Given the description of an element on the screen output the (x, y) to click on. 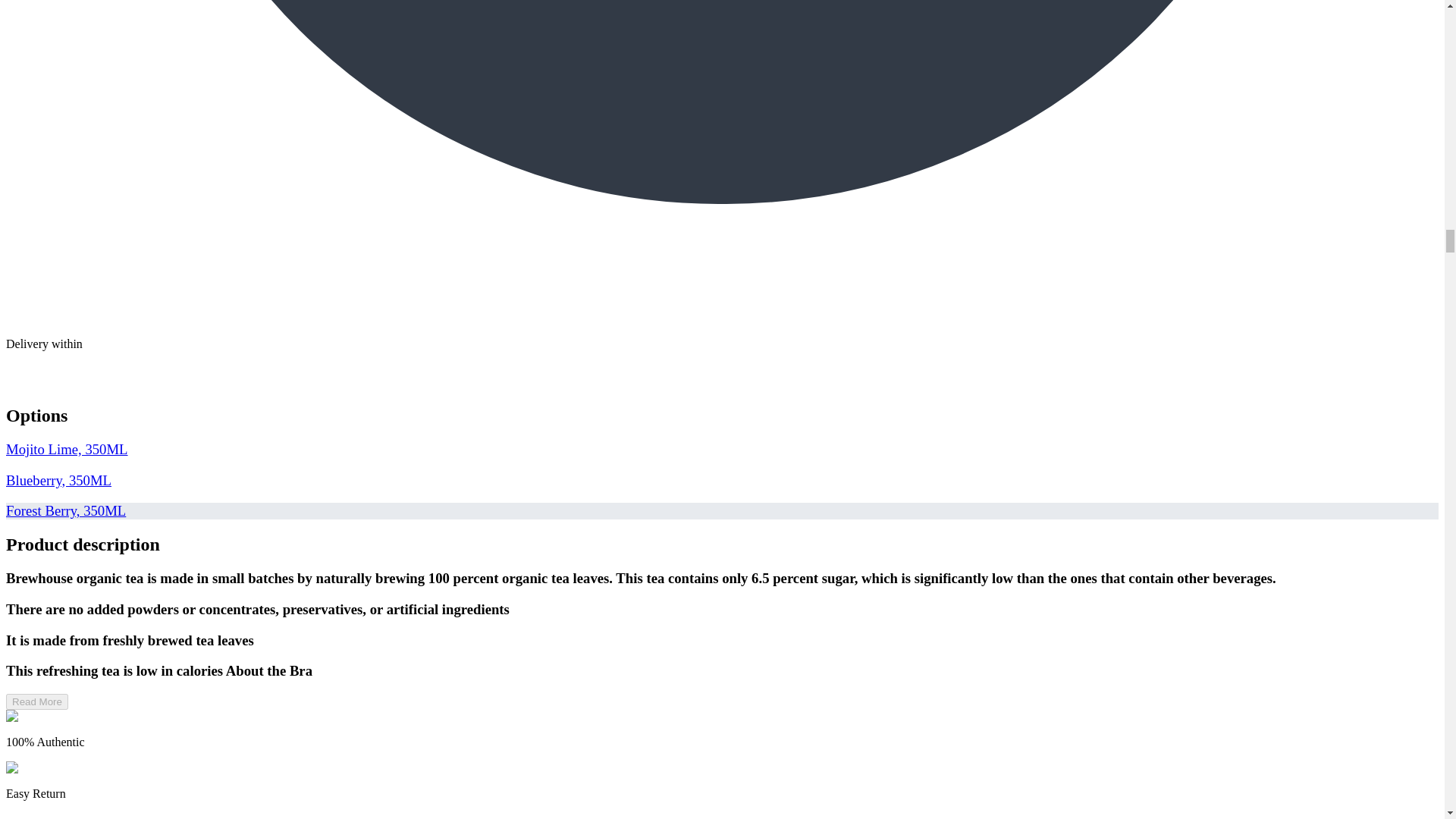
Read More (36, 701)
